Given the description of an element on the screen output the (x, y) to click on. 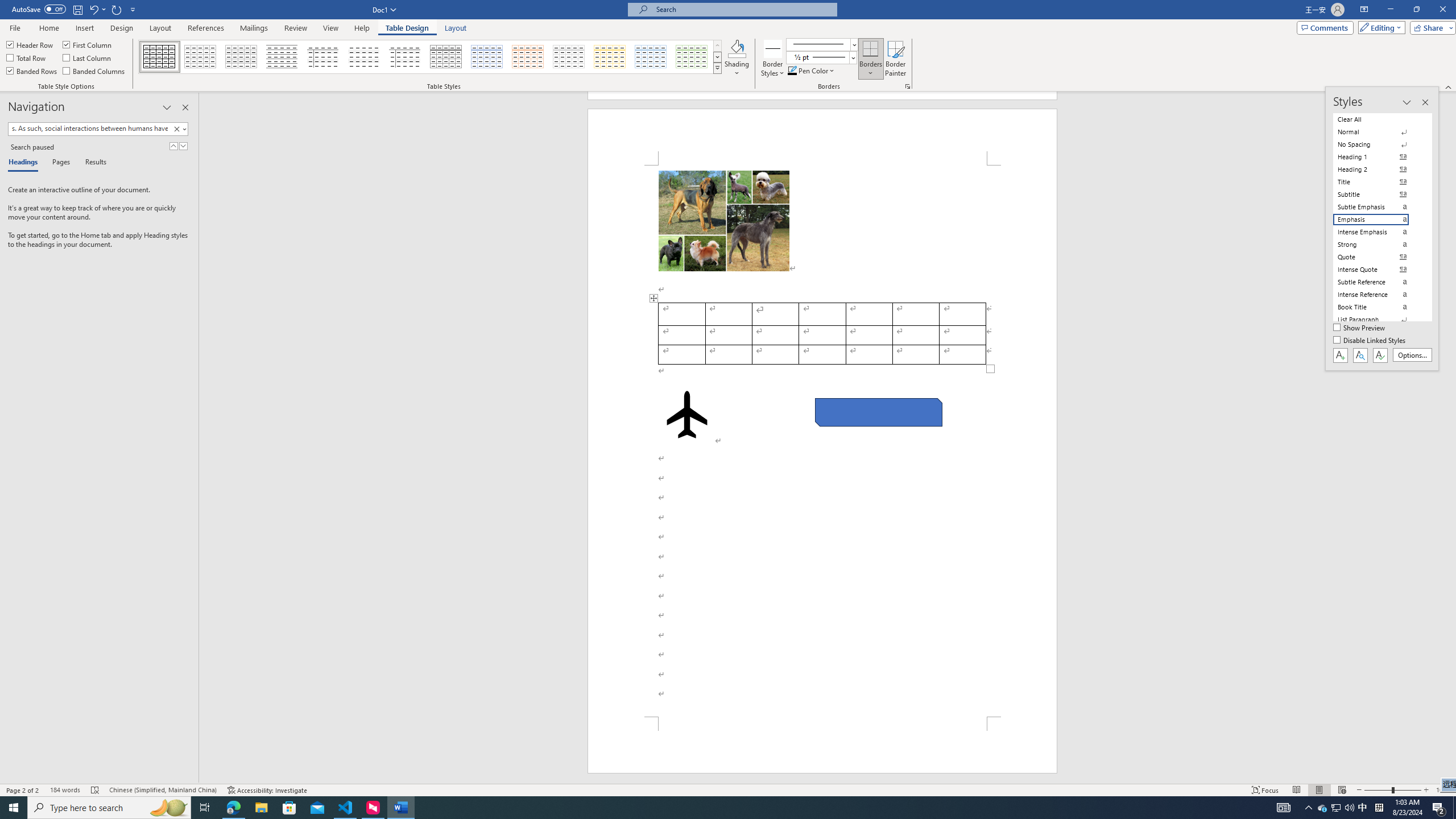
Intense Emphasis (1377, 232)
List Paragraph (1377, 319)
Pen Weight (821, 56)
Quote (1377, 256)
Grid Table 1 Light - Accent 1 (487, 56)
Undo Style (92, 9)
Zoom 104% (1443, 790)
Options... (1412, 354)
